Given the description of an element on the screen output the (x, y) to click on. 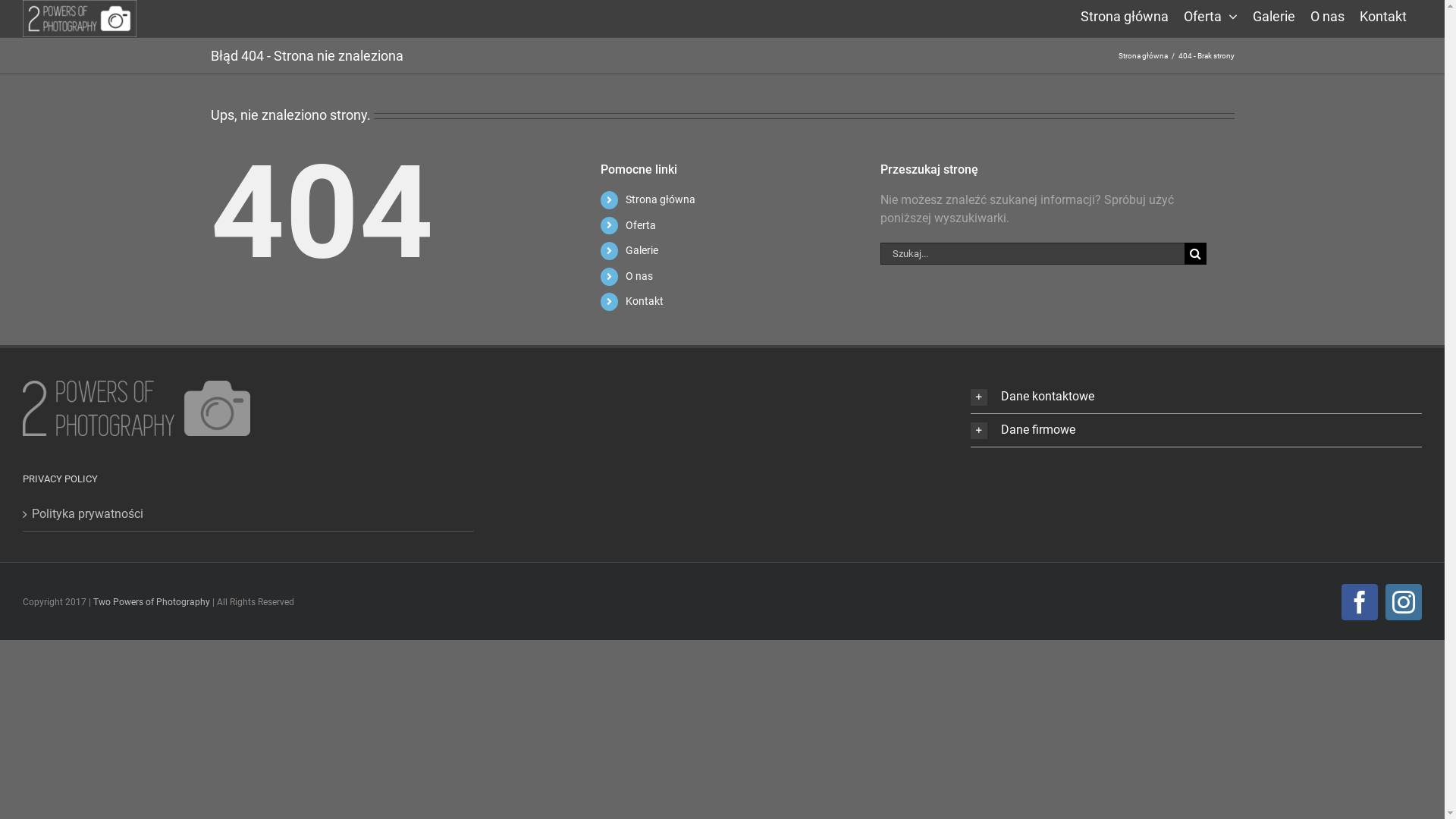
Facebook Element type: text (1359, 601)
Oferta Element type: text (1210, 15)
Dane firmowe Element type: text (1195, 430)
Galerie Element type: text (641, 250)
O nas Element type: text (638, 275)
Two Powers of Photography Element type: text (152, 601)
O nas Element type: text (1327, 15)
Dane kontaktowe Element type: text (1195, 396)
Instagram Element type: text (1403, 601)
Kontakt Element type: text (1382, 15)
Oferta Element type: text (640, 225)
Galerie Element type: text (1273, 15)
Kontakt Element type: text (644, 300)
